Given the description of an element on the screen output the (x, y) to click on. 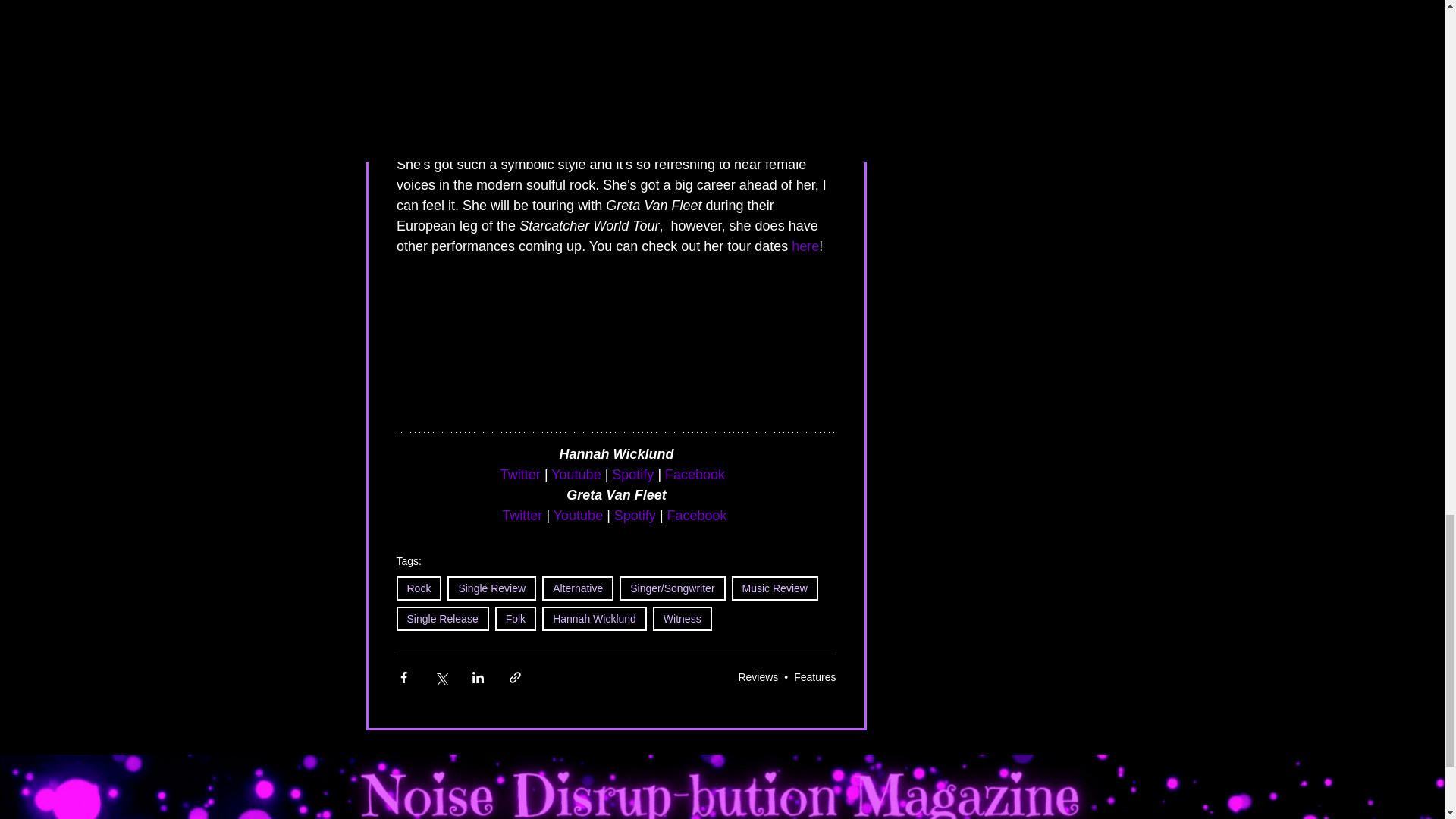
Spotify (632, 474)
Reviews (757, 676)
Youtube (577, 515)
Alternative (576, 588)
here (805, 246)
Twitter (519, 474)
Witness (681, 618)
Hannah Wicklund (593, 618)
Single Review (490, 588)
Rock (418, 588)
Features (814, 676)
Facebook (696, 515)
Spotify (633, 515)
Youtube (575, 474)
Folk (515, 618)
